Given the description of an element on the screen output the (x, y) to click on. 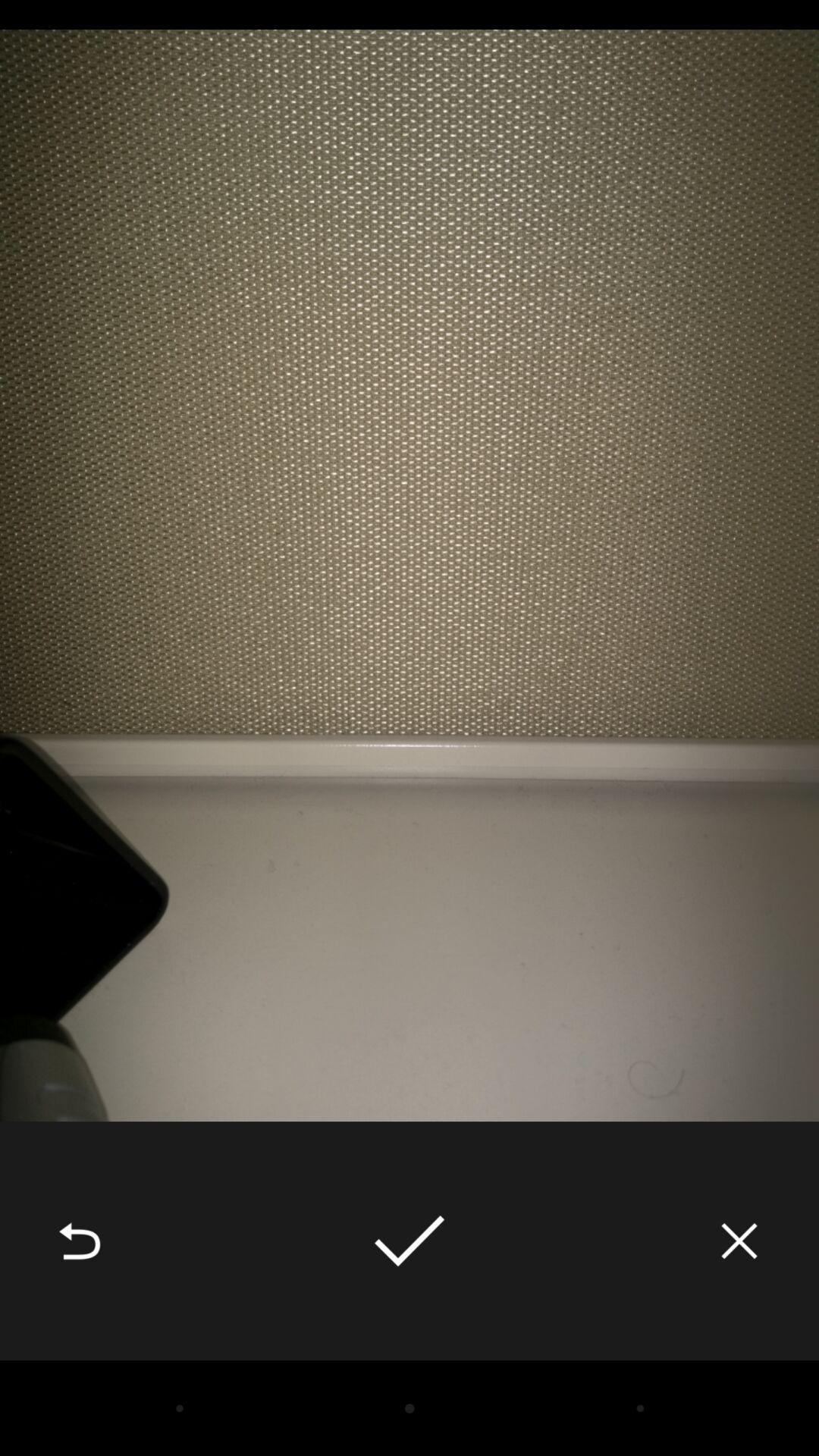
choose the icon at the bottom right corner (739, 1240)
